Given the description of an element on the screen output the (x, y) to click on. 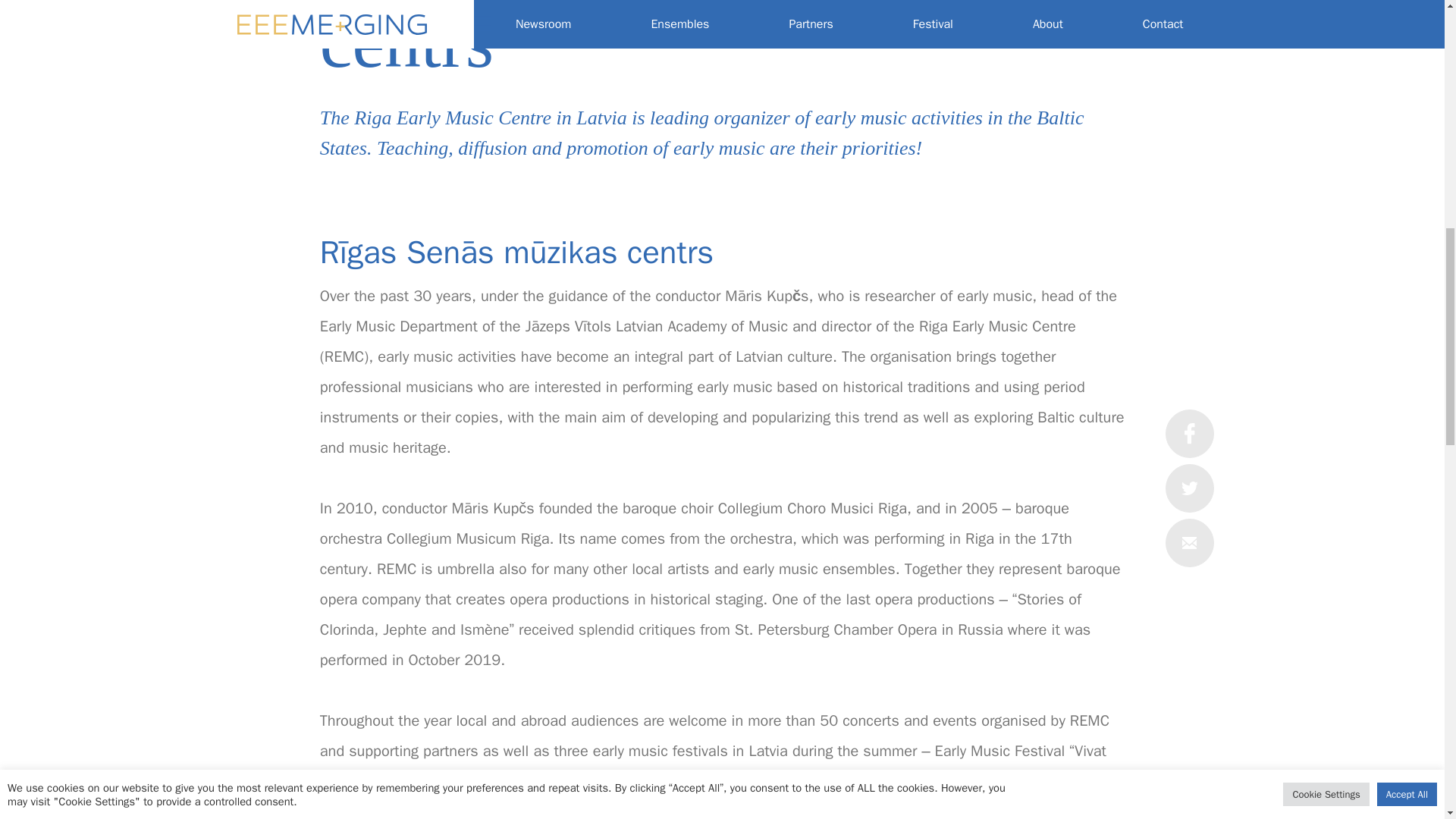
mail (1188, 21)
